Given the description of an element on the screen output the (x, y) to click on. 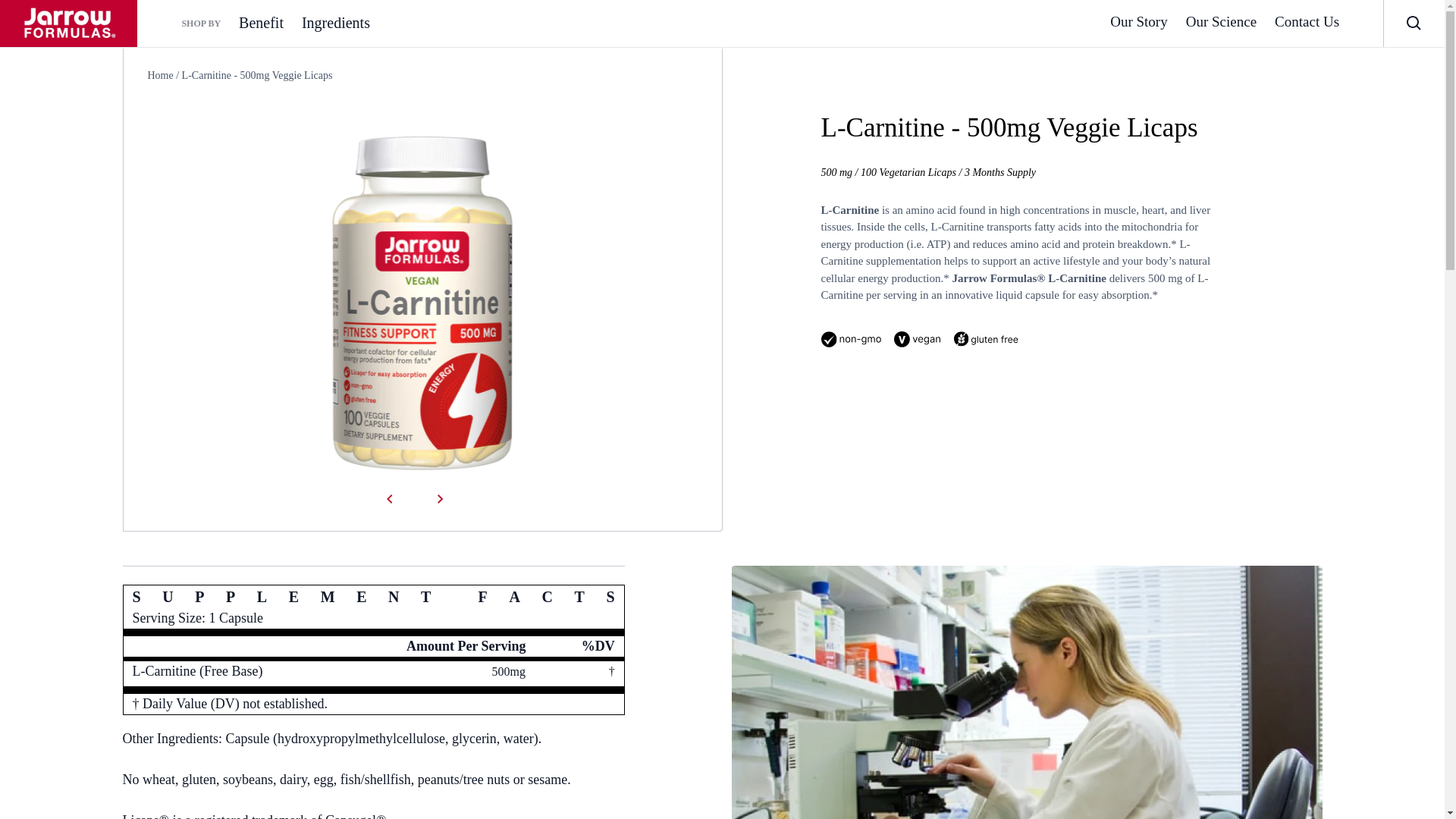
Home (160, 75)
Benefit (260, 23)
